Given the description of an element on the screen output the (x, y) to click on. 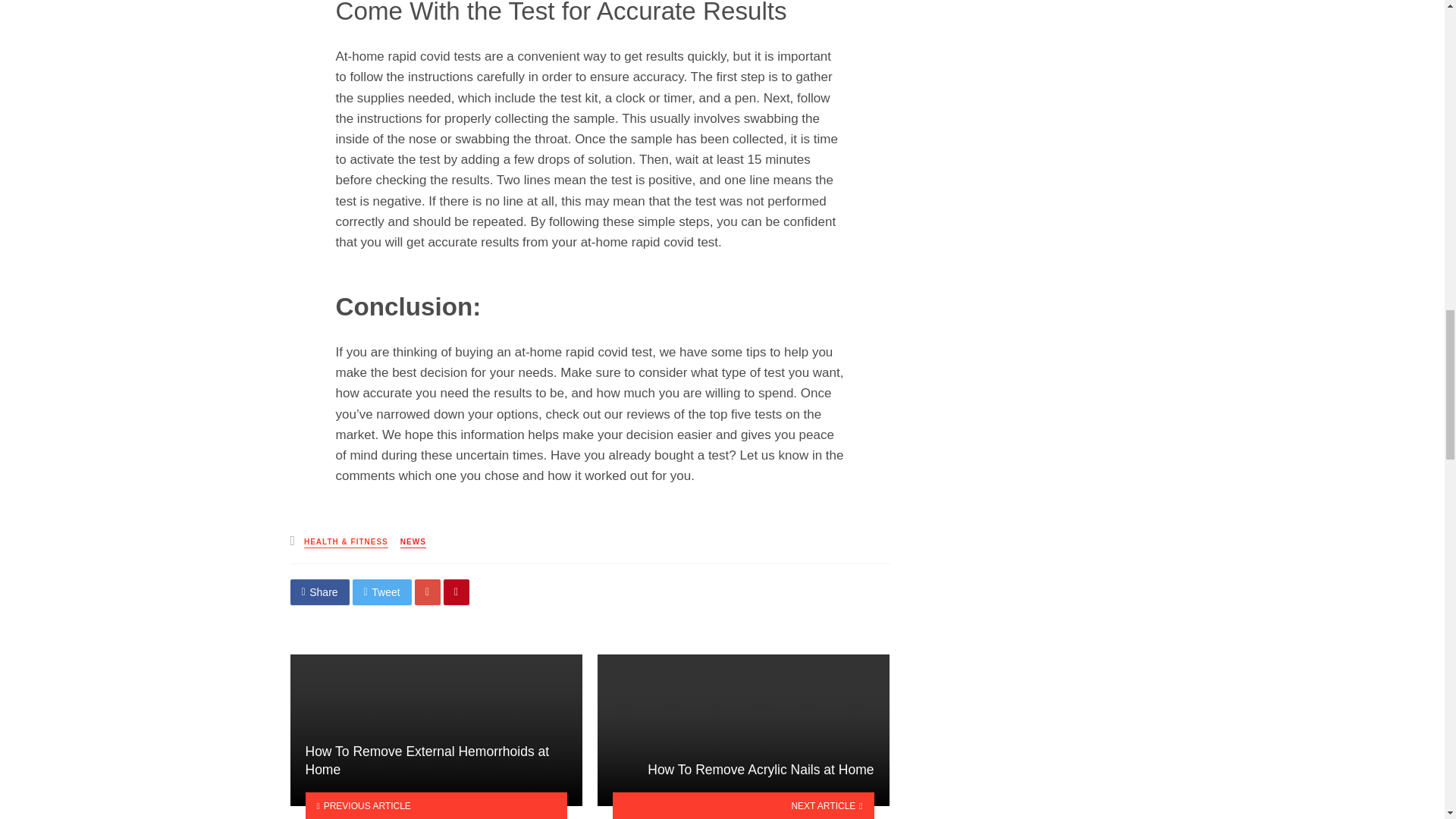
NEWS (413, 542)
Share on Facebook (319, 592)
NEXT ARTICLE (742, 805)
PREVIOUS ARTICLE (434, 805)
Share on Pinterest (456, 592)
Share on Twitter (382, 592)
Share (319, 592)
Tweet (382, 592)
